Given the description of an element on the screen output the (x, y) to click on. 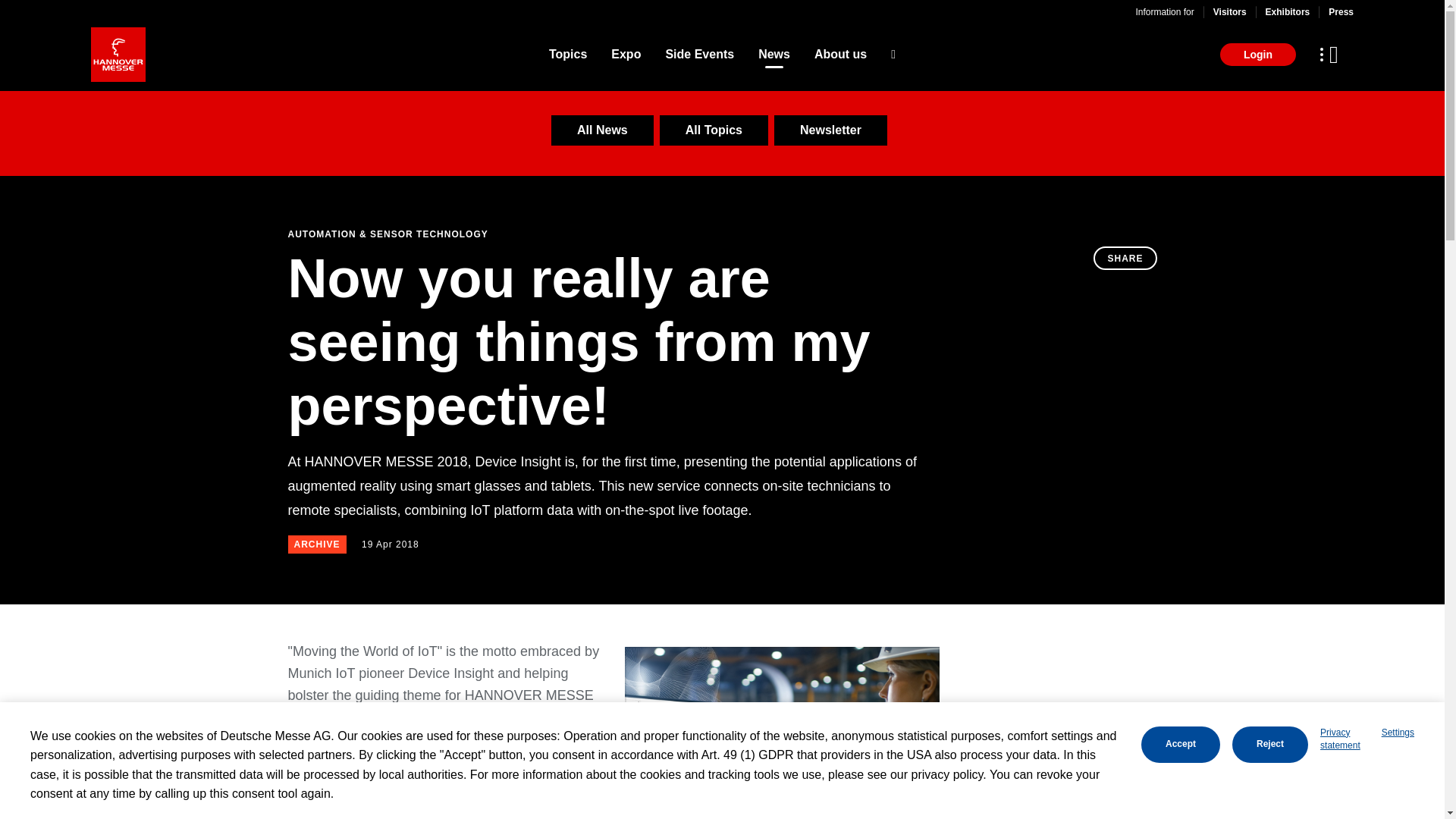
Press (1340, 11)
Expo (625, 54)
News (774, 54)
Topics (567, 54)
All Topics (713, 130)
Visitors (1229, 11)
Exhibitors (1287, 11)
Side Events (699, 54)
Newsletter (830, 130)
Login (1257, 54)
